Given the description of an element on the screen output the (x, y) to click on. 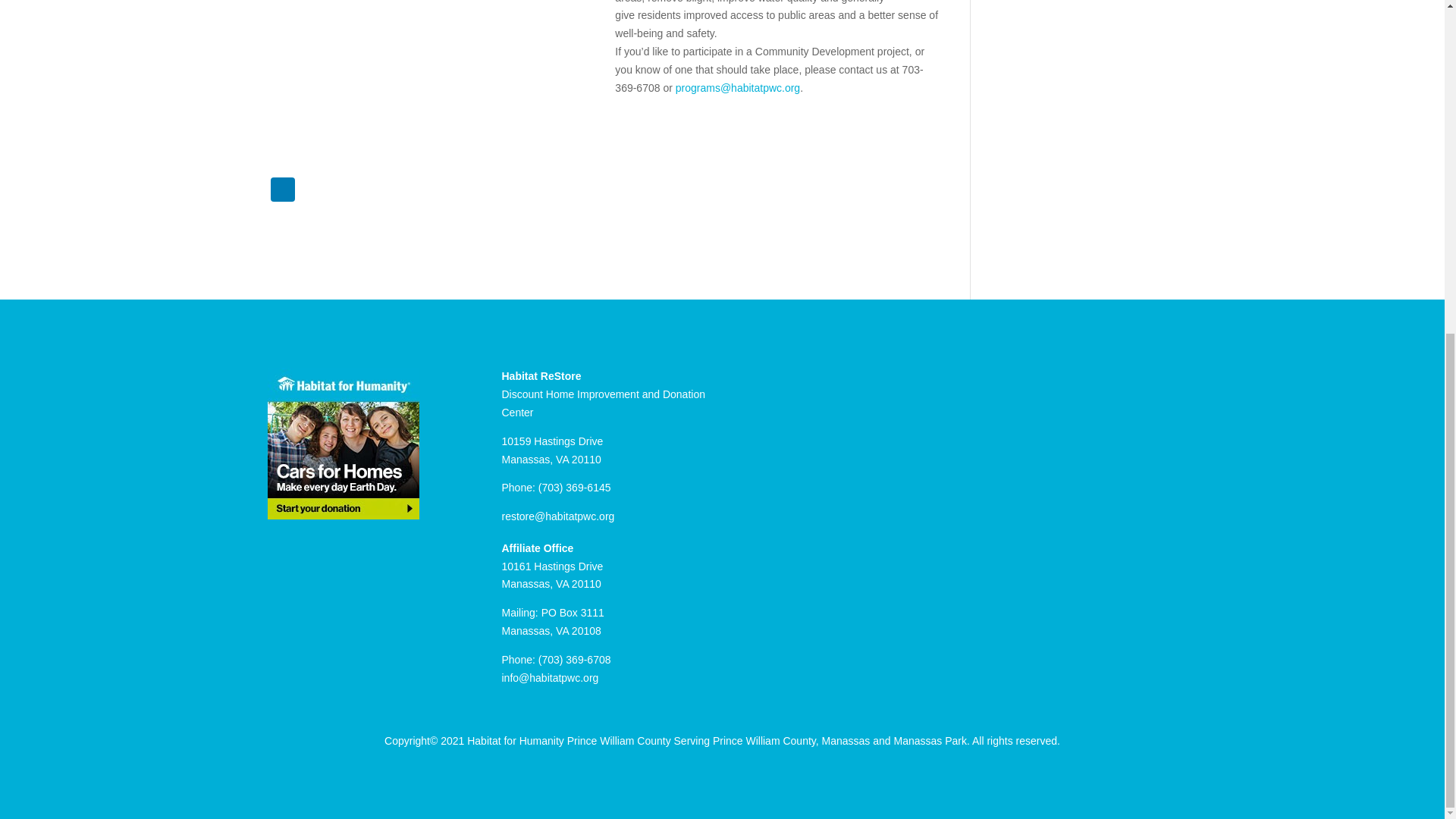
LinkedIn (281, 191)
